Given the description of an element on the screen output the (x, y) to click on. 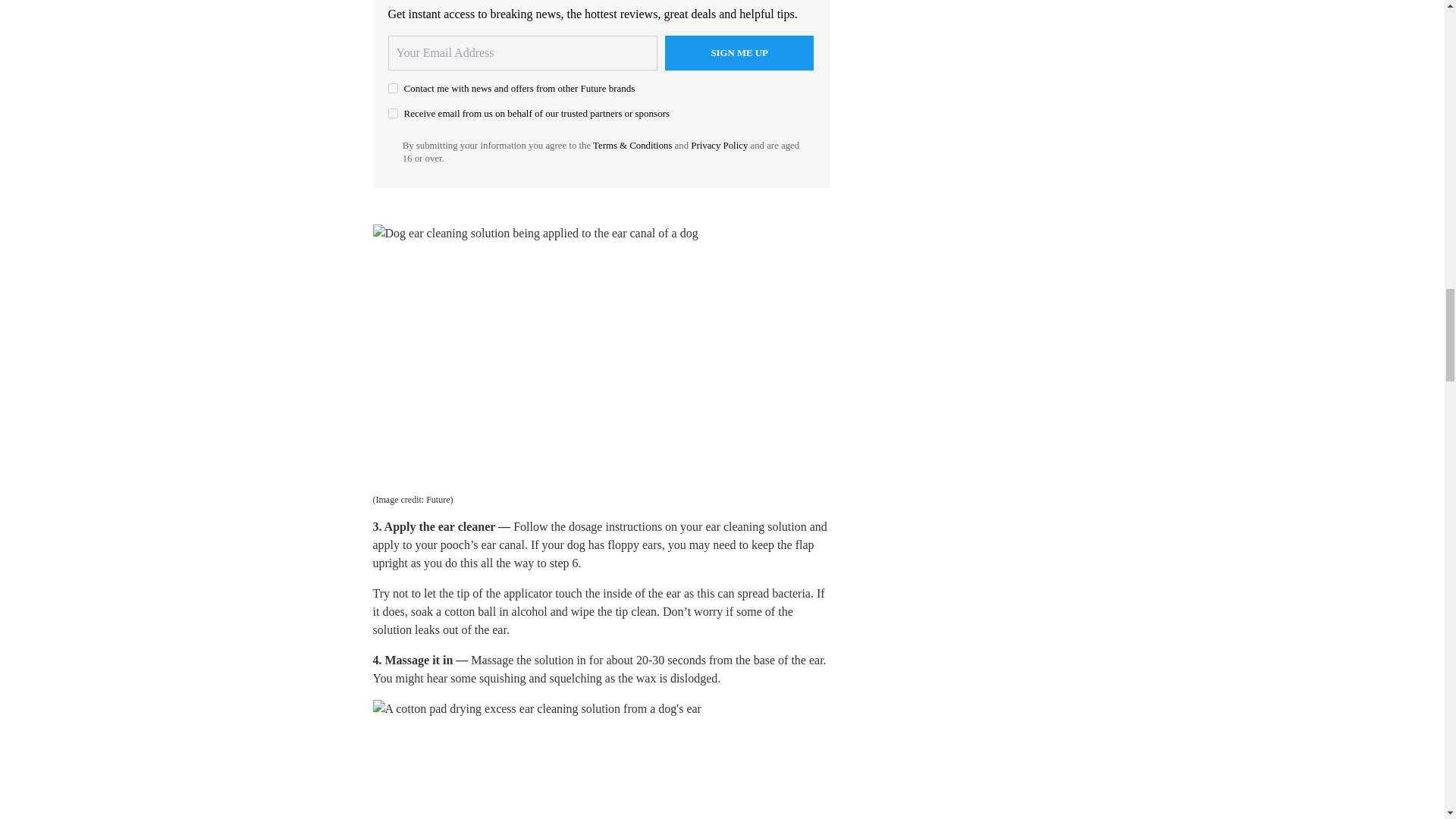
on (392, 88)
on (392, 112)
Sign me up (739, 53)
